Given the description of an element on the screen output the (x, y) to click on. 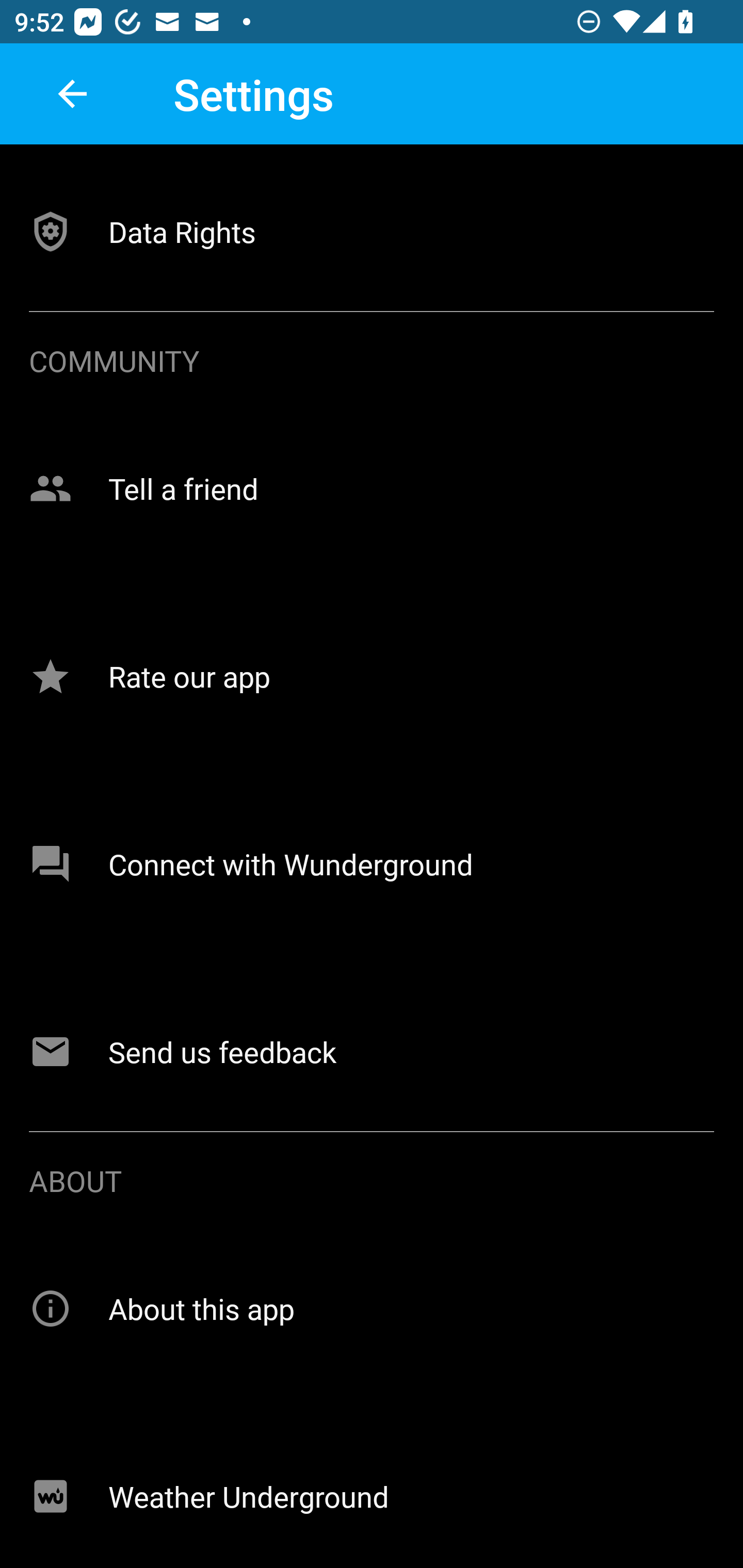
back (71, 93)
Data Rights (371, 231)
Tell a friend Tell a friend. Open in browser (371, 488)
Rate our app (371, 676)
Connect with Wunderground (371, 863)
Send us feedback Send us feedback. Open in browser (371, 1051)
About this app (371, 1308)
Weather Underground (371, 1492)
